Given the description of an element on the screen output the (x, y) to click on. 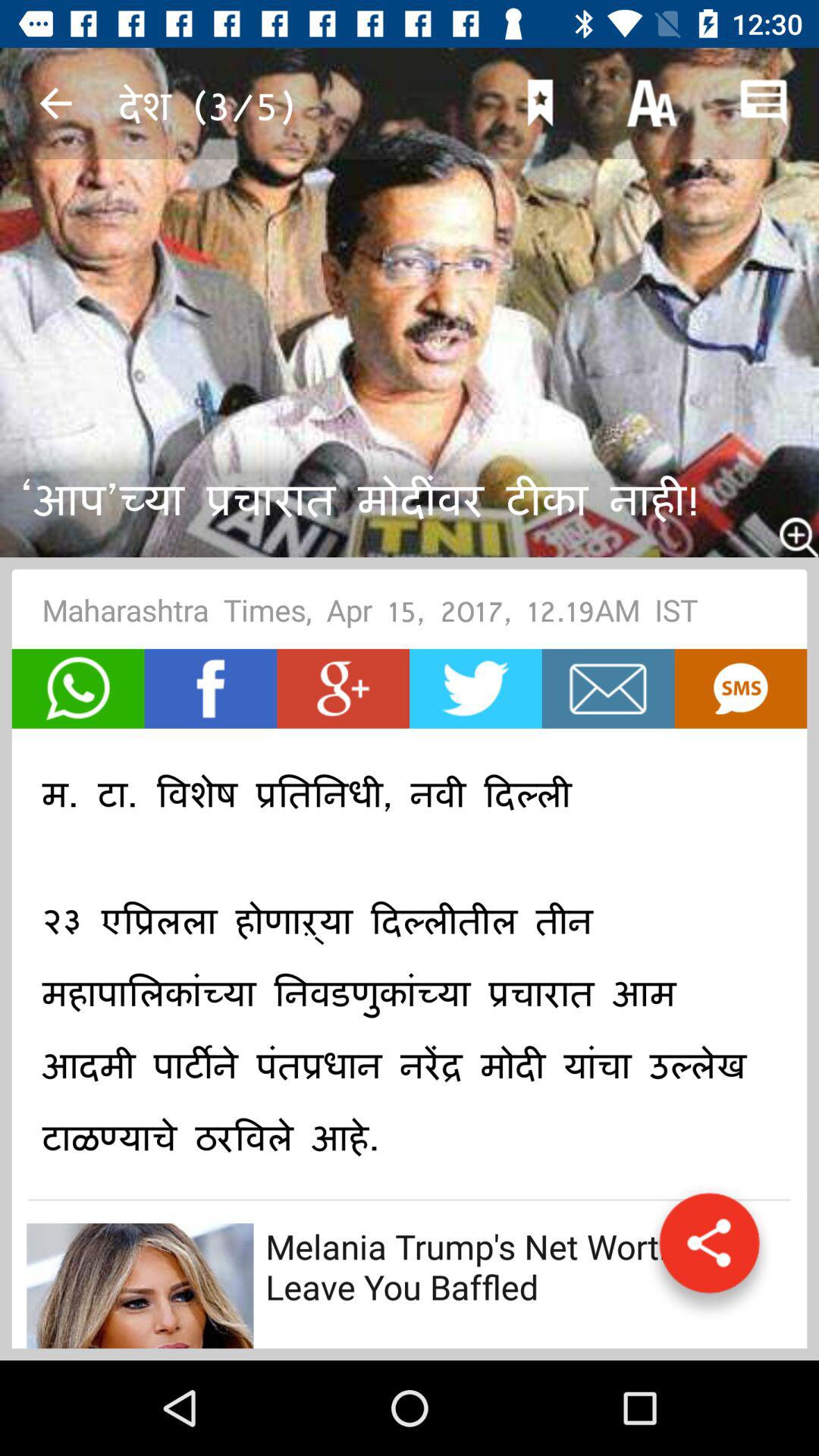
share on google+ (342, 688)
